Given the description of an element on the screen output the (x, y) to click on. 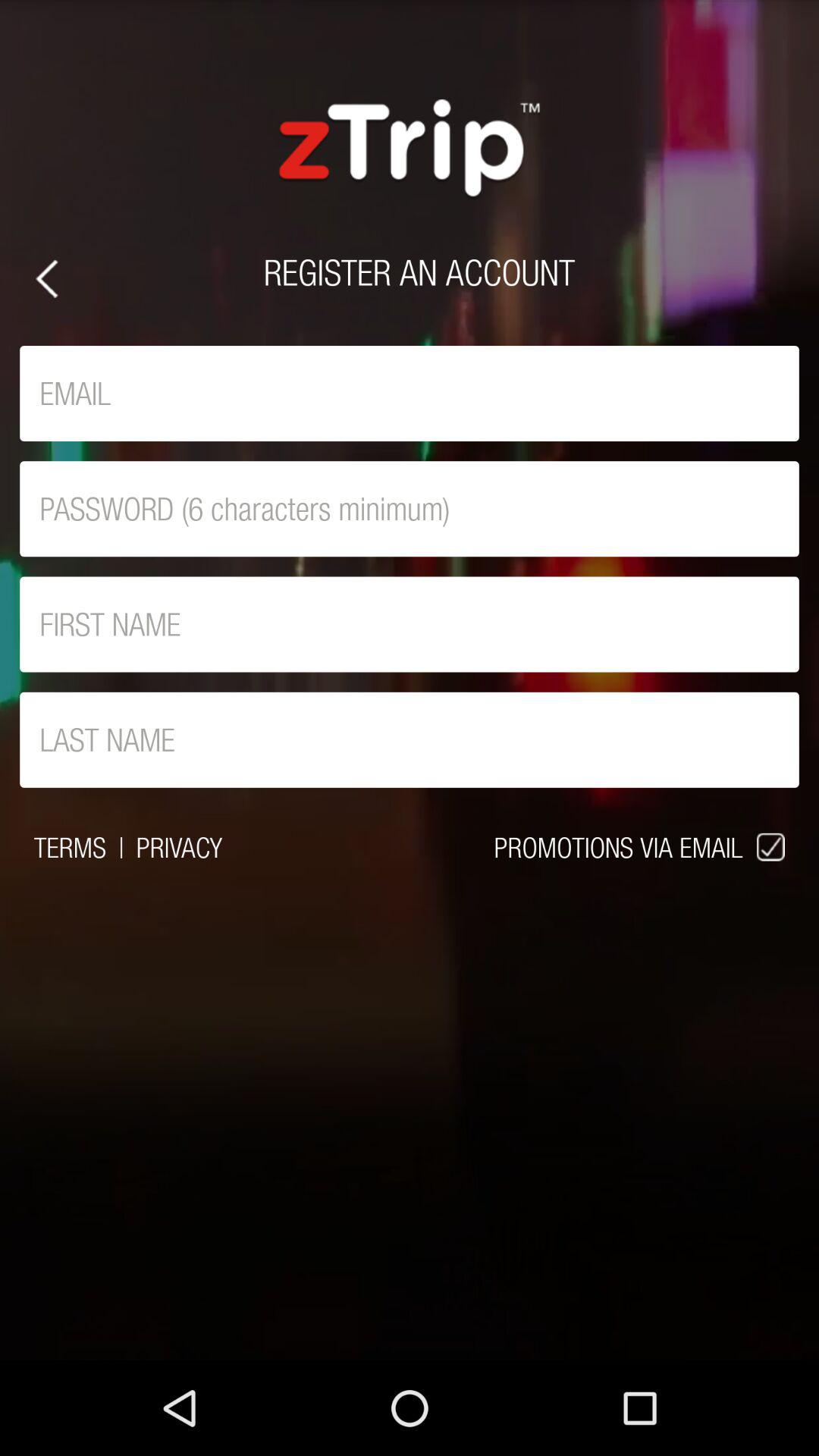
turn off the icon to the left of the register an account (46, 278)
